Given the description of an element on the screen output the (x, y) to click on. 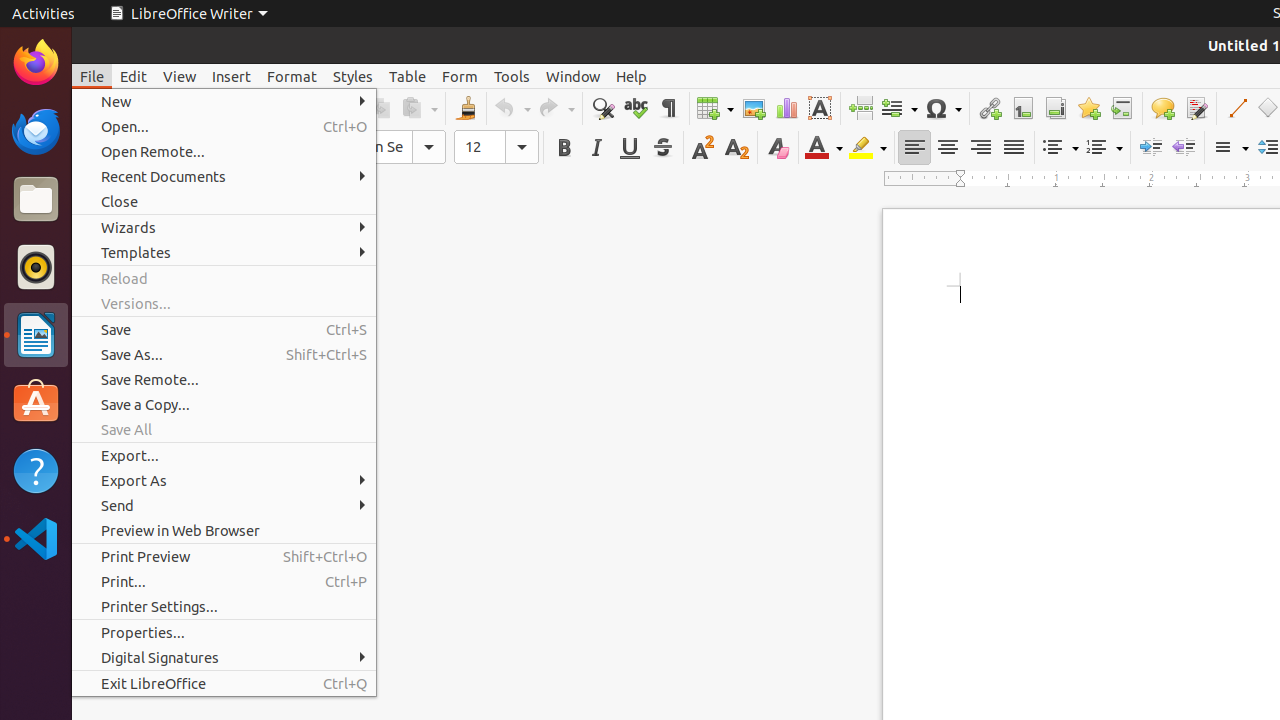
Center Element type: toggle-button (947, 147)
Track Changes Functions Element type: toggle-button (1195, 108)
LibreOffice Writer Element type: menu (188, 13)
Bookmark Element type: push-button (1088, 108)
Text Box Element type: push-button (819, 108)
